Given the description of an element on the screen output the (x, y) to click on. 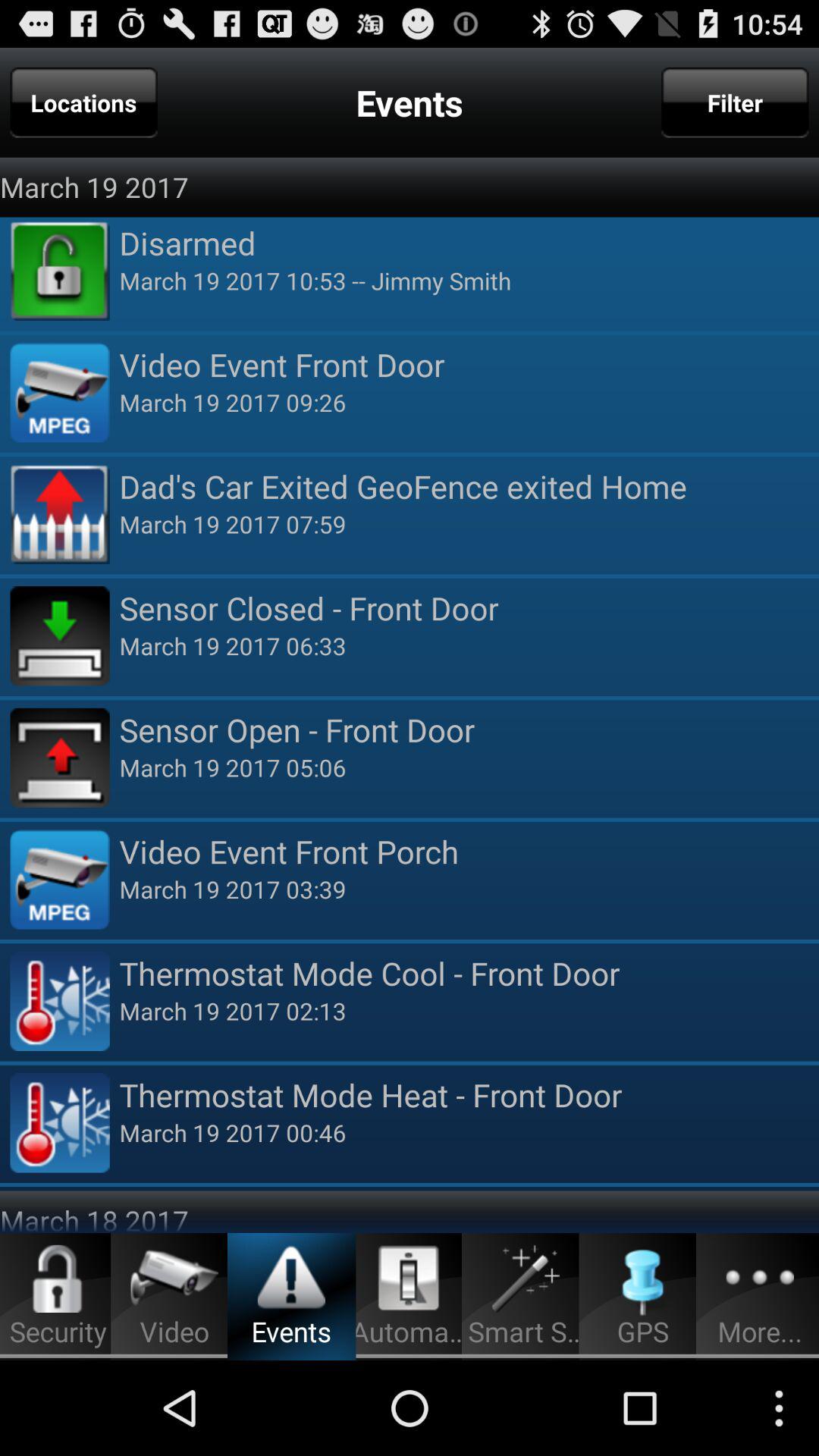
flip to filter icon (734, 102)
